Given the description of an element on the screen output the (x, y) to click on. 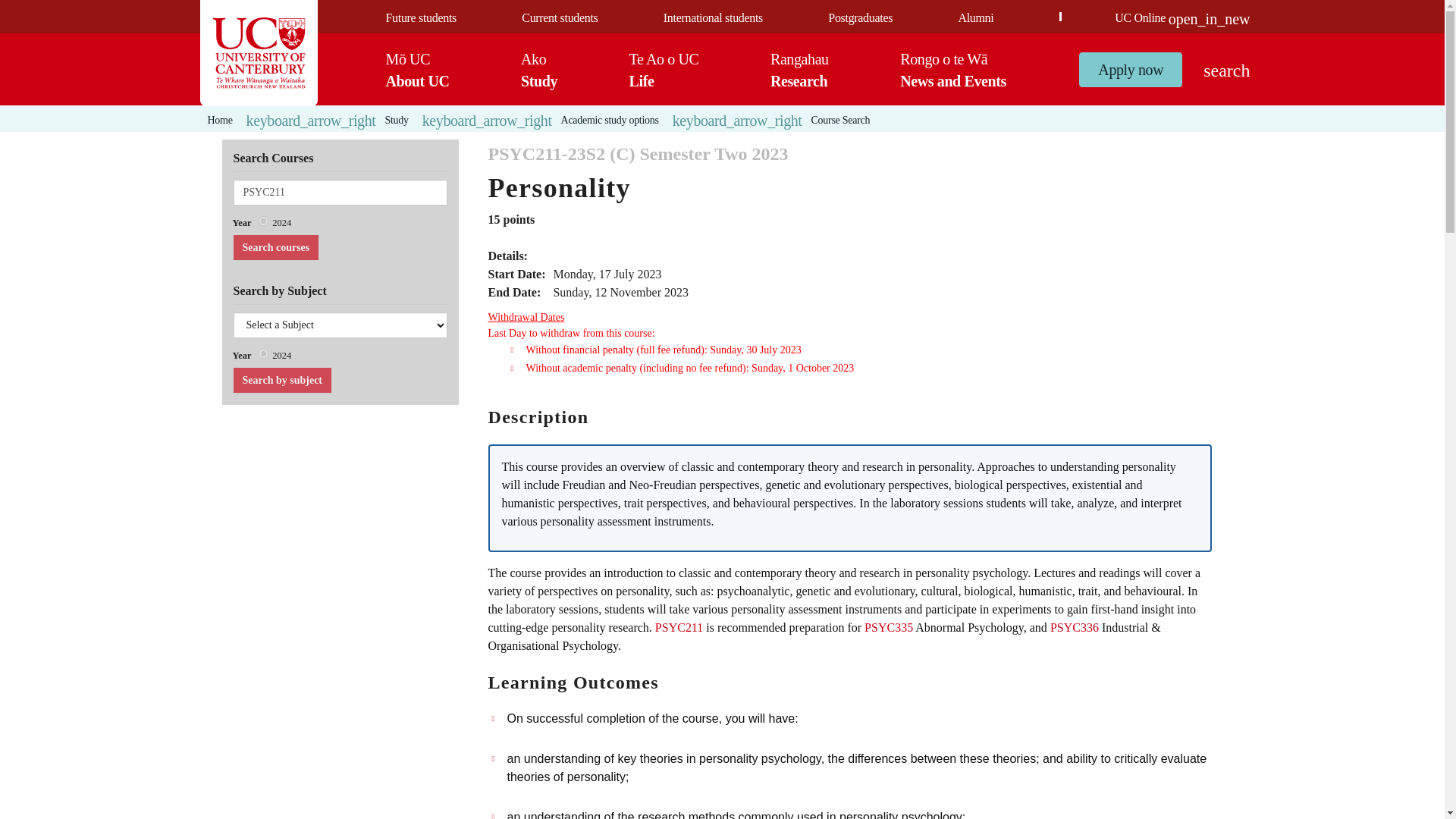
Search by subject (281, 379)
PSYC211 (339, 192)
PSYC211 (339, 192)
Postgraduates (539, 69)
Search courses (860, 17)
2024 (274, 247)
Alumni (263, 221)
Search courses (975, 17)
International students (274, 247)
Future students (712, 17)
2024 (420, 17)
Current students (263, 353)
Search by subject (558, 17)
